Given the description of an element on the screen output the (x, y) to click on. 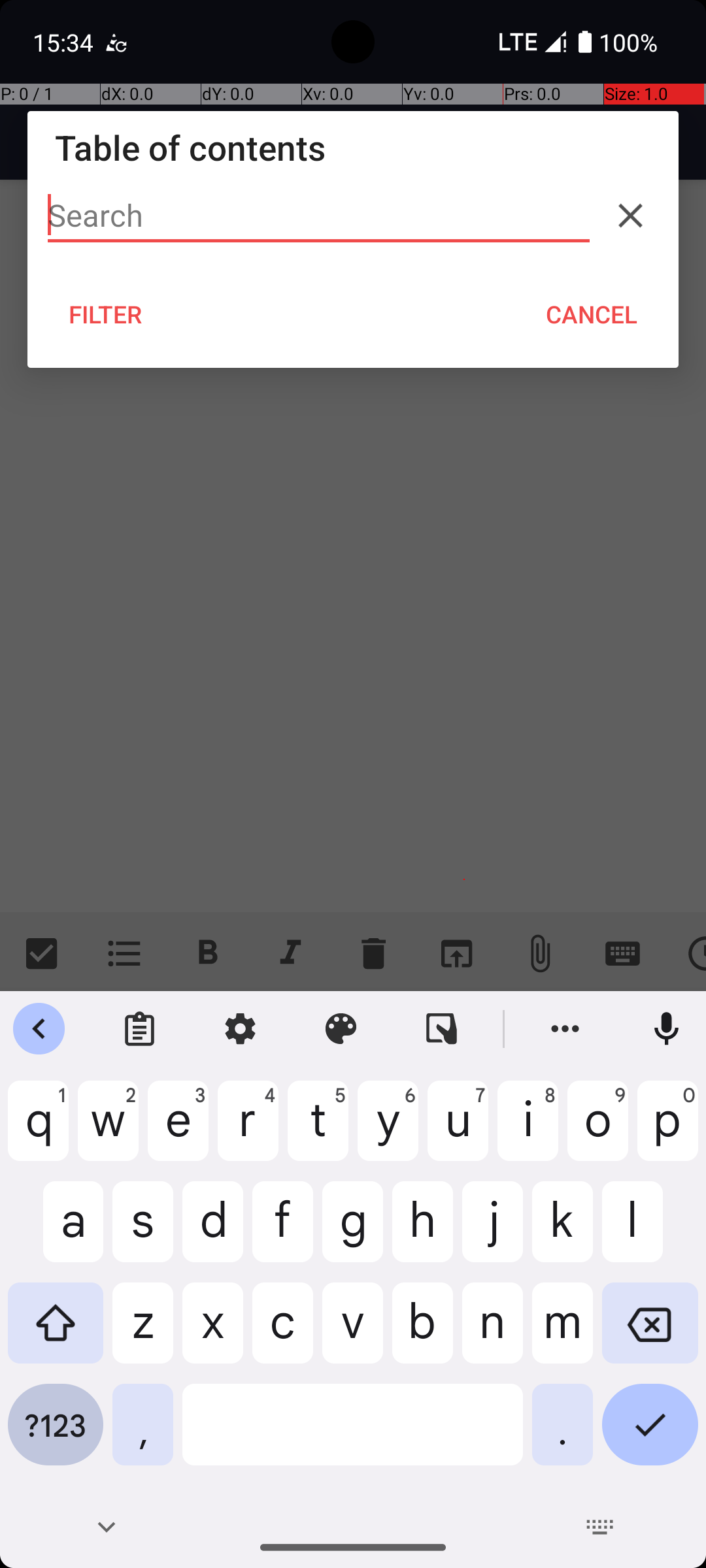
FILTER Element type: android.widget.Button (105, 313)
